Given the description of an element on the screen output the (x, y) to click on. 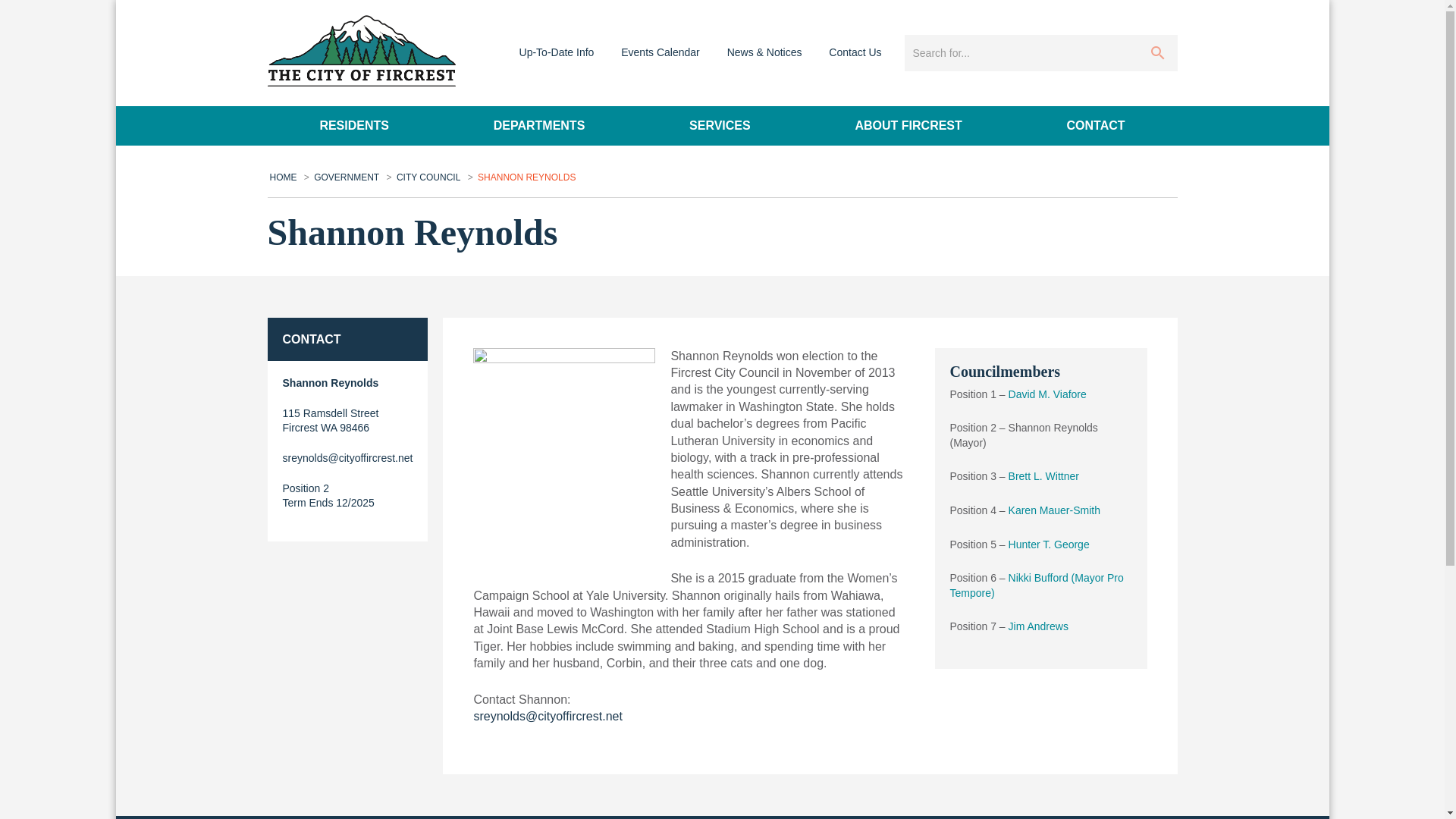
Search (1157, 53)
Up-To-Date Info (556, 51)
DEPARTMENTS (539, 125)
City of Fircrest (360, 50)
RESIDENTS (353, 125)
SERVICES (719, 125)
Events Calendar (659, 51)
Search City of Fircrest (1018, 53)
Contact Us (854, 51)
Search (1157, 53)
